Given the description of an element on the screen output the (x, y) to click on. 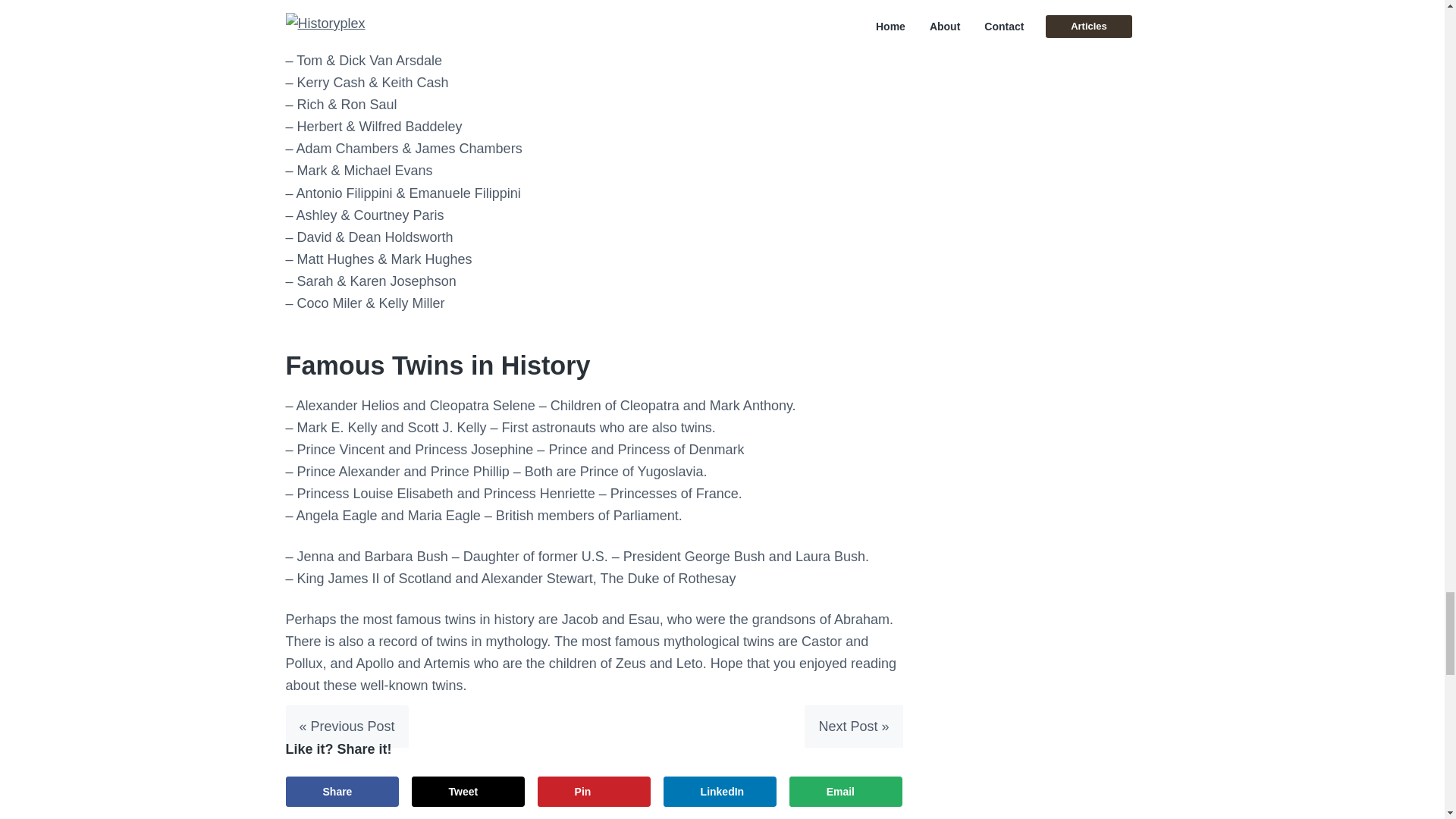
Share (341, 791)
Send over email (845, 791)
Share on Facebook (341, 791)
Pin (593, 791)
Share on X (468, 791)
LinkedIn (720, 791)
Save to Pinterest (593, 791)
Share on LinkedIn (720, 791)
Email (845, 791)
Tweet (468, 791)
